Given the description of an element on the screen output the (x, y) to click on. 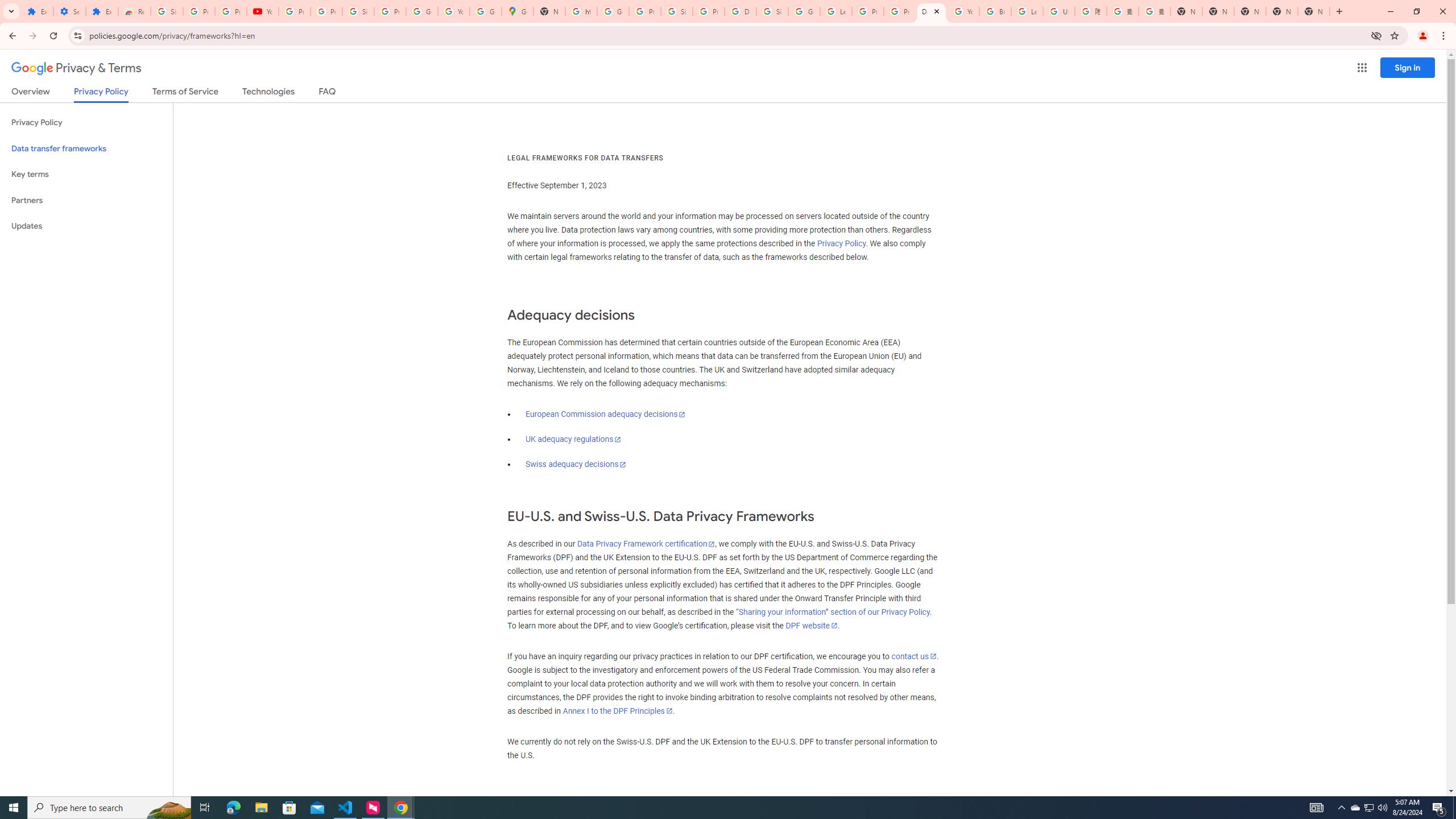
Reviews: Helix Fruit Jump Arcade Game (134, 11)
DPF website (810, 625)
Sign in - Google Accounts (772, 11)
Delete specific Google services or your Google Account (740, 11)
Extensions (37, 11)
